Given the description of an element on the screen output the (x, y) to click on. 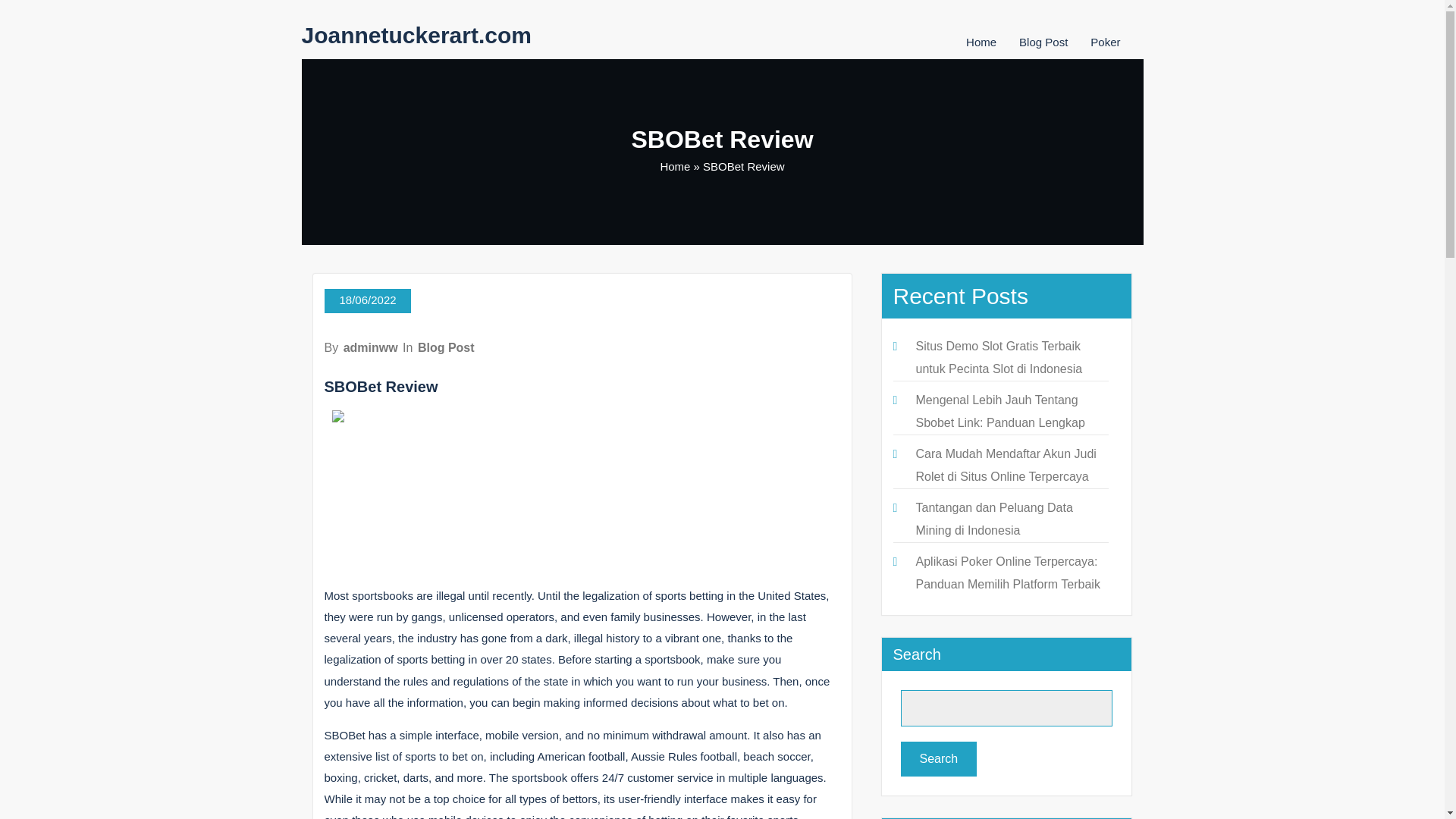
Mengenal Lebih Jauh Tentang Sbobet Link: Panduan Lengkap (999, 411)
Search (938, 759)
Blog Post (1043, 41)
Blog Post (446, 347)
Joannetuckerart.com (416, 34)
Poker (1104, 41)
Home (980, 41)
adminww (370, 347)
Tantangan dan Peluang Data Mining di Indonesia (994, 519)
Home (674, 165)
